Given the description of an element on the screen output the (x, y) to click on. 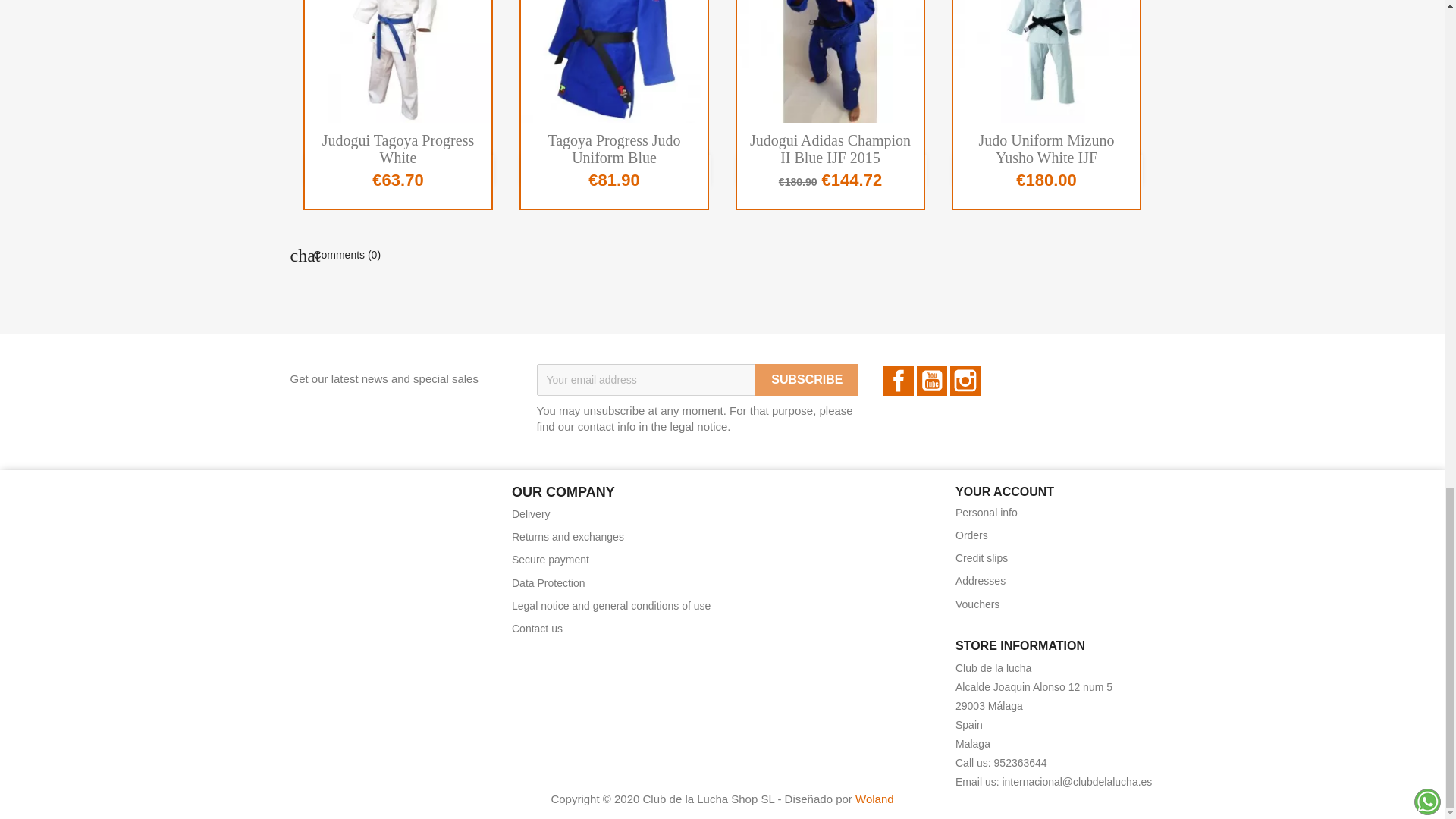
Subscribe (807, 379)
